Given the description of an element on the screen output the (x, y) to click on. 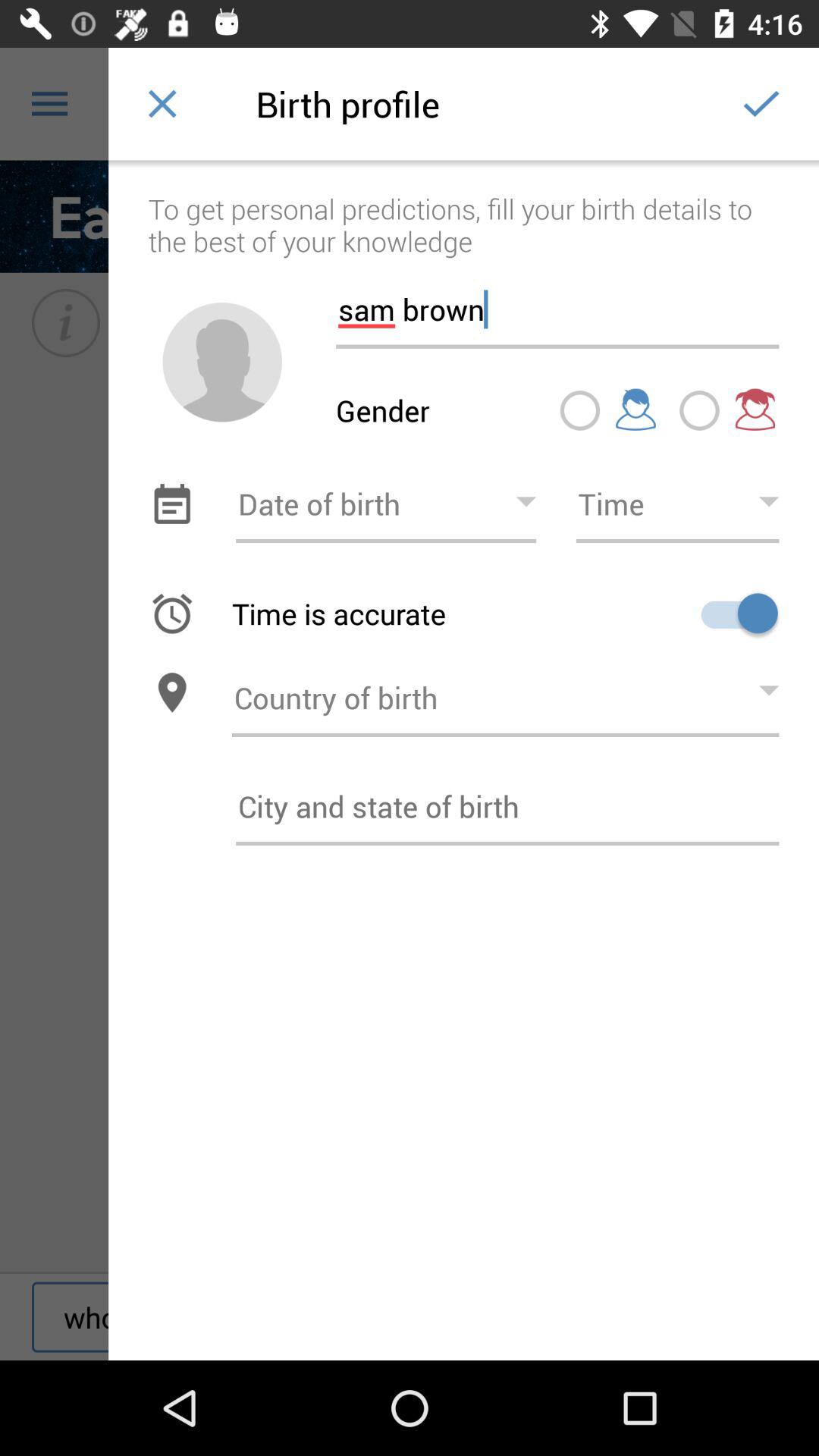
change profile picture (222, 362)
